Given the description of an element on the screen output the (x, y) to click on. 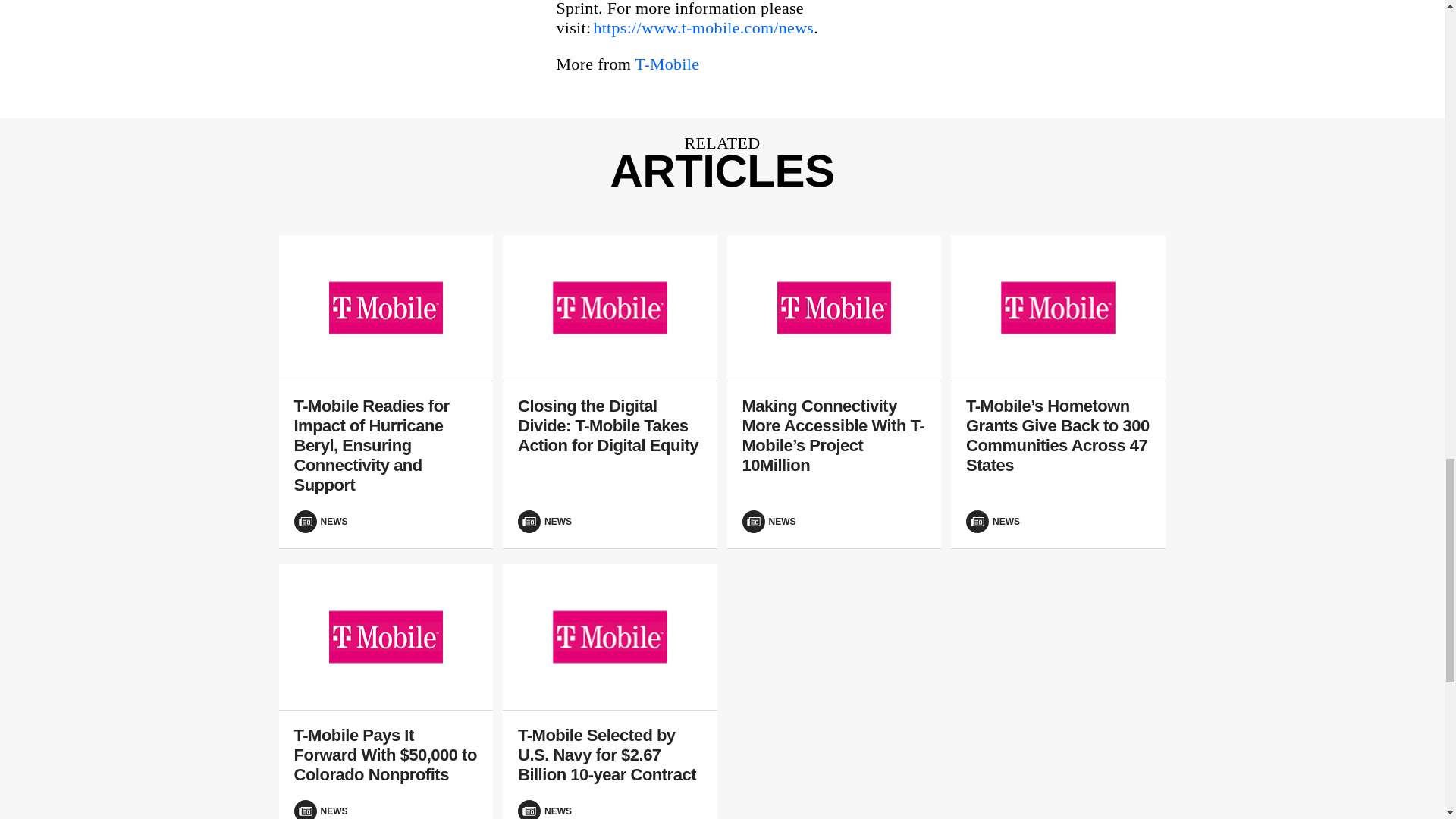
T-Mobile (667, 63)
